Given the description of an element on the screen output the (x, y) to click on. 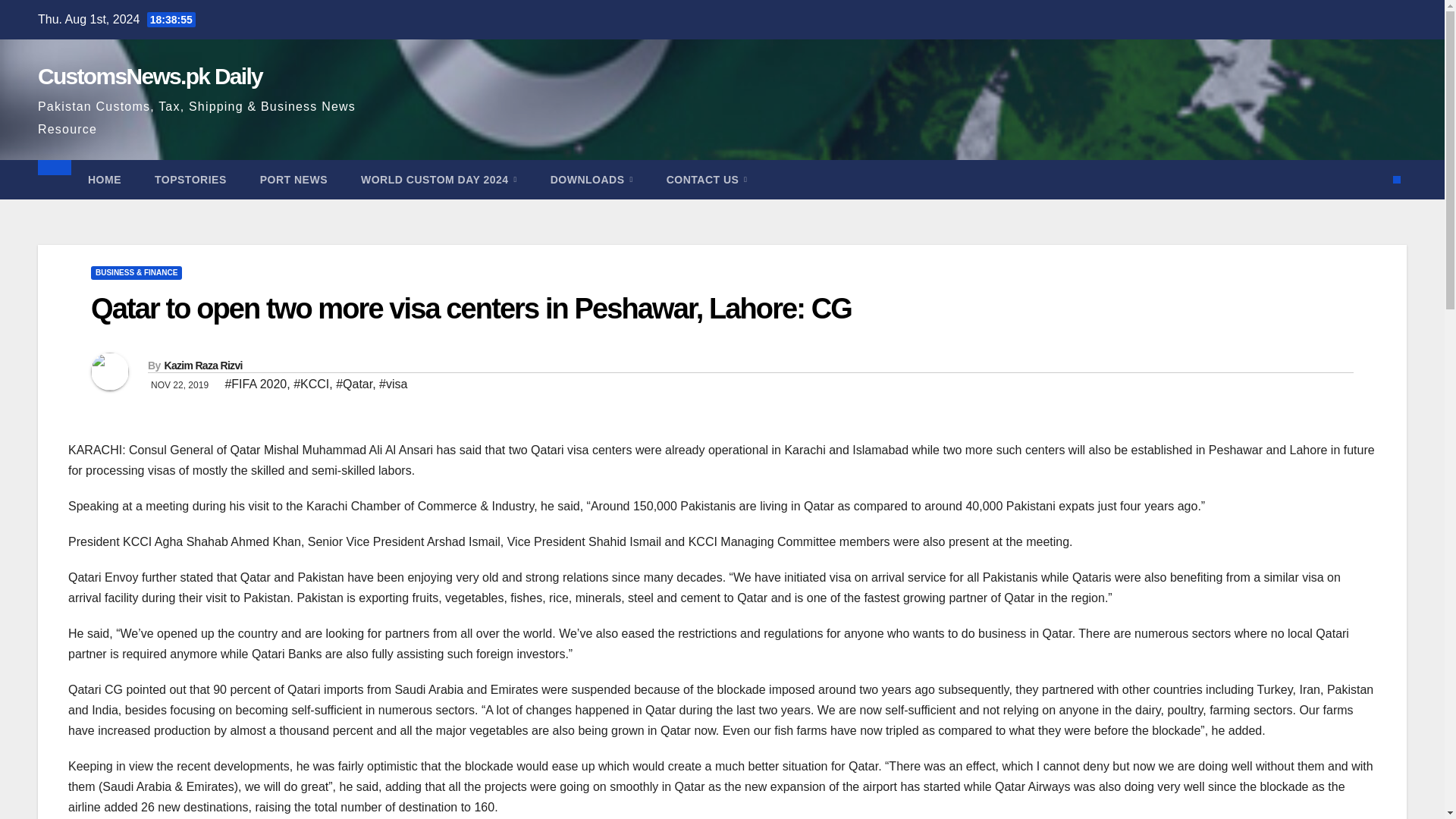
World Custom Day 2024 (96, 204)
Advance Rulings (108, 477)
World Custom Day 2018 (157, 381)
S.R.O Exports (132, 585)
Photos Highlights World Customs Day Karachi (181, 217)
World Customs Day 2016 (159, 408)
SROs (80, 558)
Photos Highlights World Customs Day Peshawar (185, 245)
Home (50, 163)
Home (50, 163)
Downloads (63, 436)
Customs Central Region holds World Customs Day Celebration (252, 313)
Photos Highlights World Customs Day Karachi (181, 217)
Photos Highlights World Customs Day Quetta (178, 231)
